Given the description of an element on the screen output the (x, y) to click on. 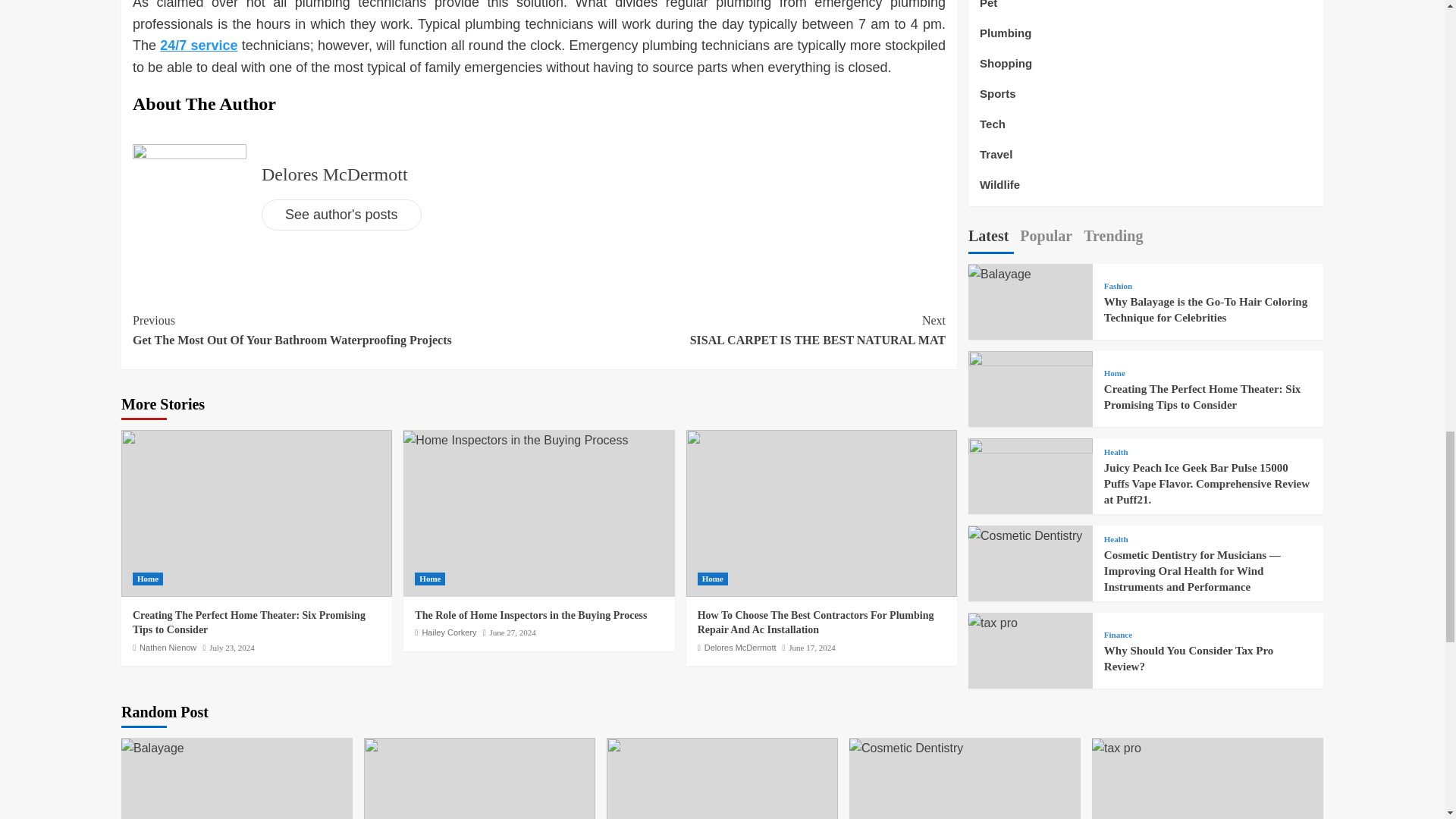
Home (712, 578)
See author's posts (342, 214)
Home (147, 578)
Home (429, 578)
June 17, 2024 (741, 330)
Nathen Nienow (811, 646)
The Role of Home Inspectors in the Buying Process (167, 646)
Delores McDermott (530, 614)
Hailey Corkery (334, 174)
Delores McDermott (449, 632)
June 27, 2024 (740, 646)
